Given the description of an element on the screen output the (x, y) to click on. 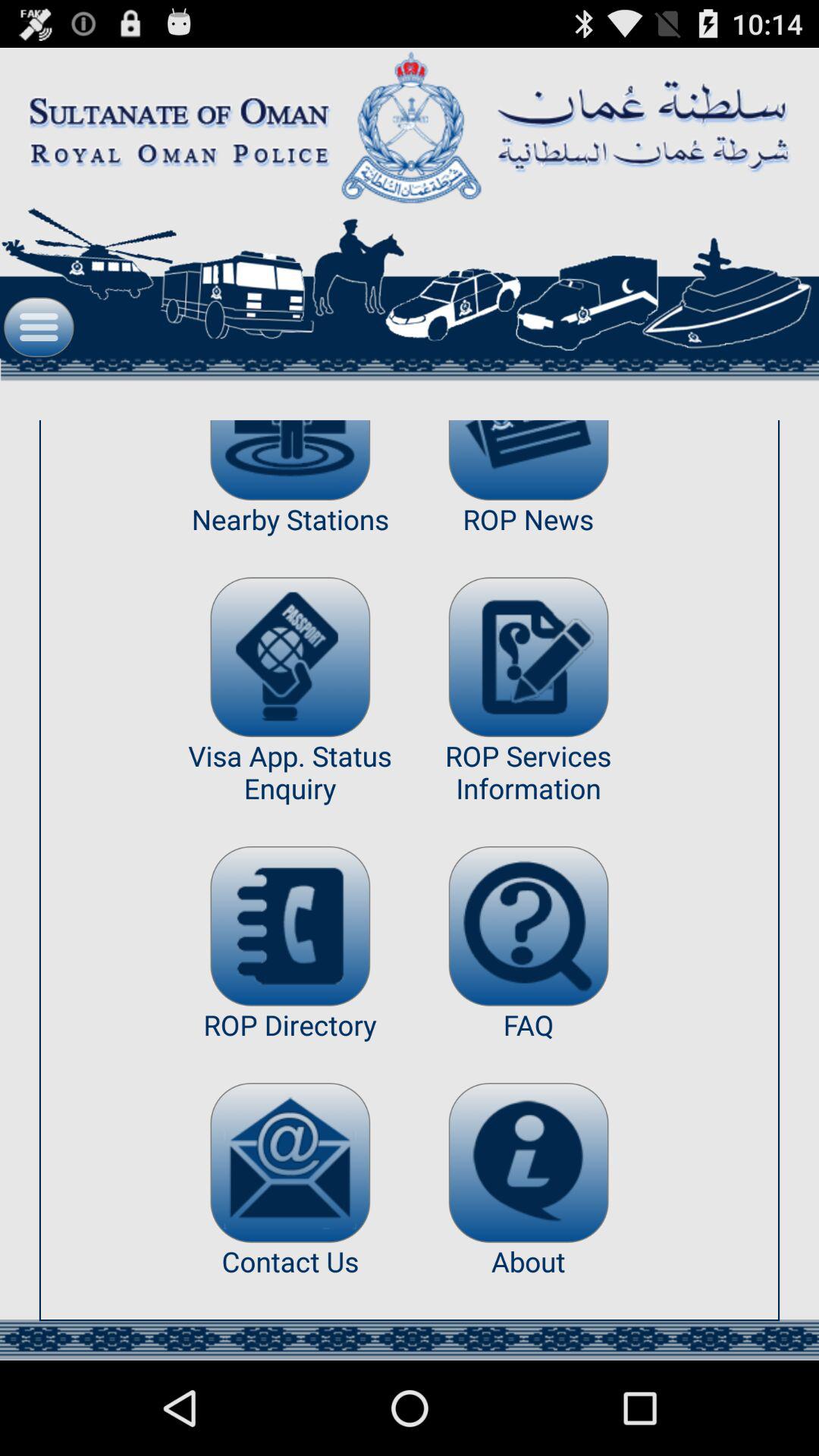
open latest news categorized as rop (528, 460)
